Given the description of an element on the screen output the (x, y) to click on. 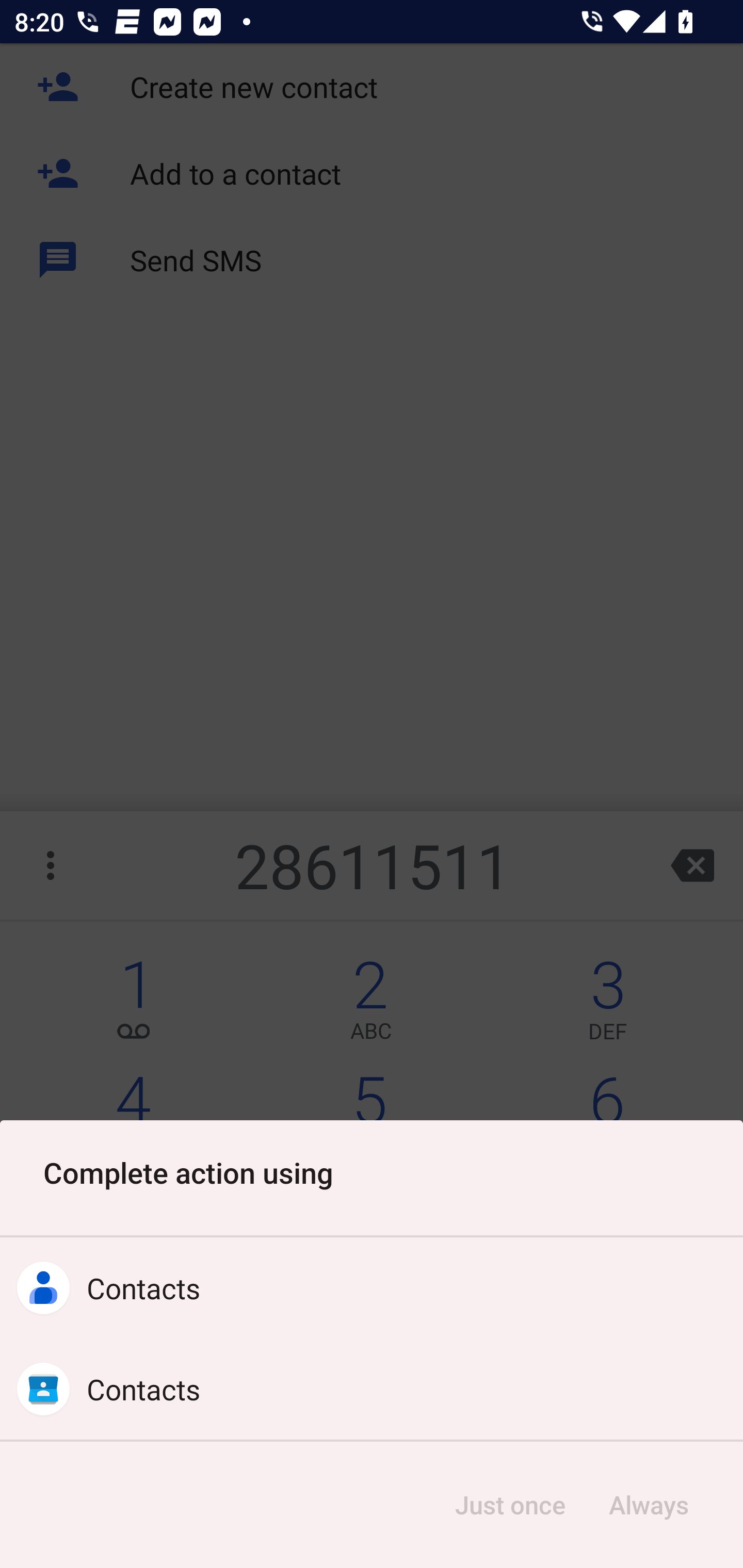
Contacts (371, 1288)
Contacts (371, 1389)
Just once (509, 1504)
Always (648, 1504)
